Given the description of an element on the screen output the (x, y) to click on. 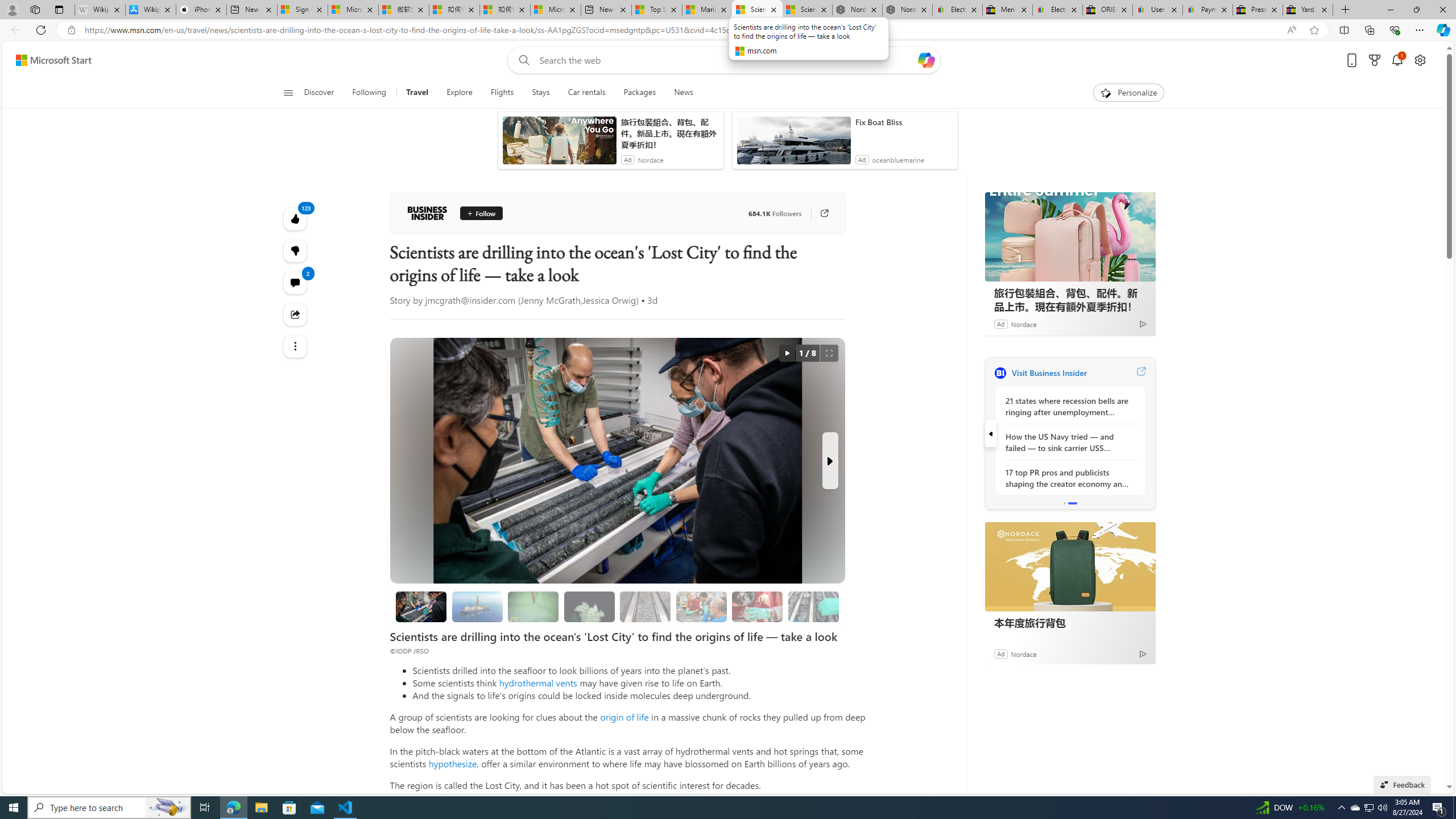
View comments 2 Comment (295, 282)
Yard, Garden & Outdoor Living (1308, 9)
123 (295, 250)
Explore (459, 92)
Researchers are still studying the samples (812, 606)
Car rentals (586, 92)
123 Like (295, 218)
Class: button-glyph (287, 92)
Flights (501, 92)
Business Insider (427, 213)
Explore (458, 92)
